Given the description of an element on the screen output the (x, y) to click on. 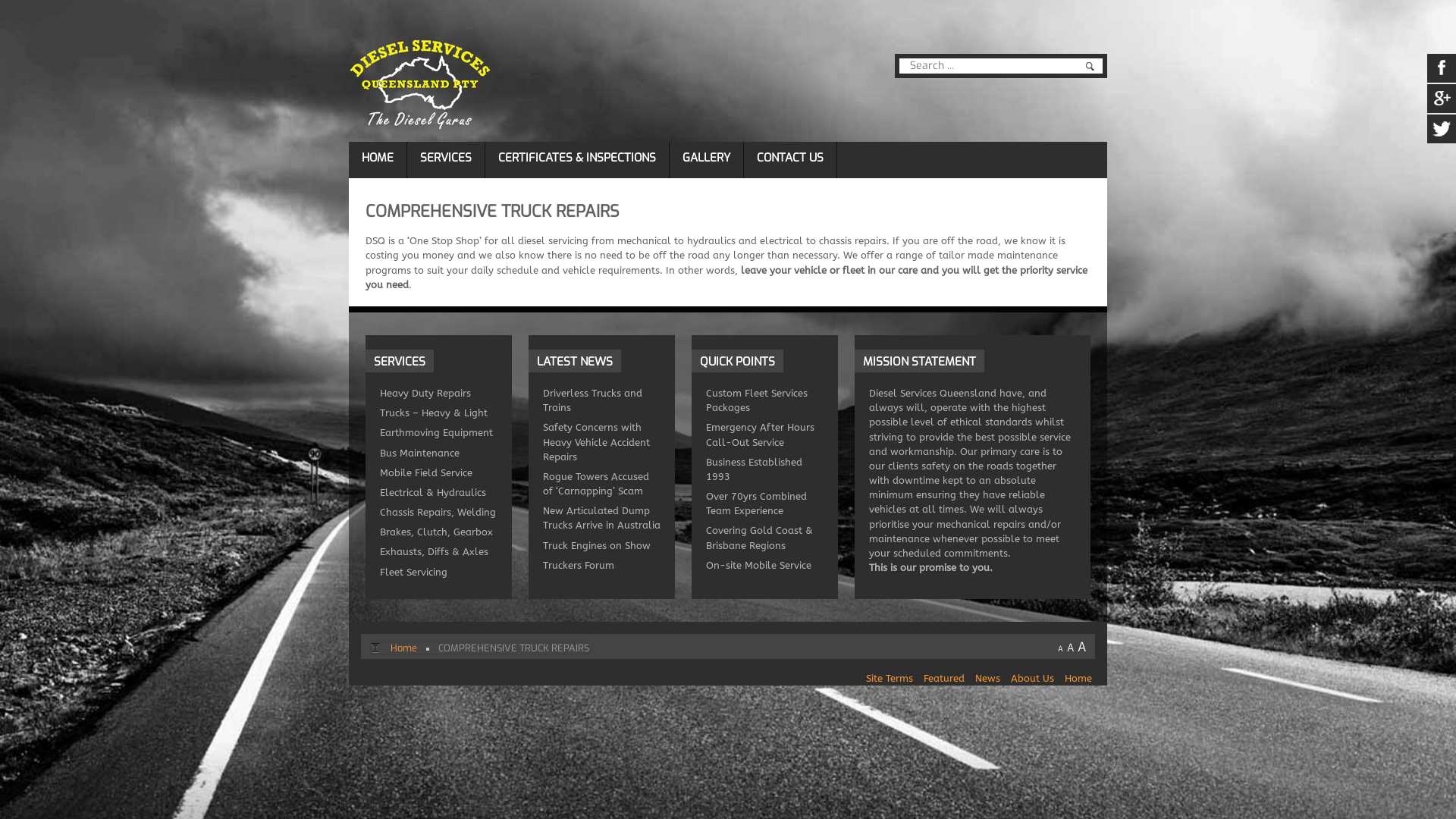
CONTACT US Element type: text (789, 157)
SERVICES Element type: text (445, 157)
A Element type: text (1060, 648)
New Articulated Dump Trucks Arrive in Australia Element type: text (601, 517)
SERVICES Element type: text (445, 157)
GALLERY Element type: text (706, 157)
Site Terms Element type: text (889, 678)
GALLERY Element type: text (706, 157)
CERTIFICATES & INSPECTIONS Element type: text (576, 157)
CONTACT US Element type: text (789, 157)
A Element type: text (1069, 647)
Driverless Trucks and Trains Element type: text (592, 400)
About Us Element type: text (1032, 678)
Home Element type: text (1078, 678)
Home Element type: text (403, 647)
Truck Engines on Show Element type: text (596, 545)
CERTIFICATES & INSPECTIONS Element type: text (576, 157)
A Element type: text (1081, 646)
Safety Concerns with Heavy Vehicle Accident Repairs Element type: text (595, 441)
Featured Element type: text (943, 678)
Truckers Forum Element type: text (578, 565)
News Element type: text (987, 678)
HOME Element type: text (377, 157)
HOME Element type: text (377, 157)
